Given the description of an element on the screen output the (x, y) to click on. 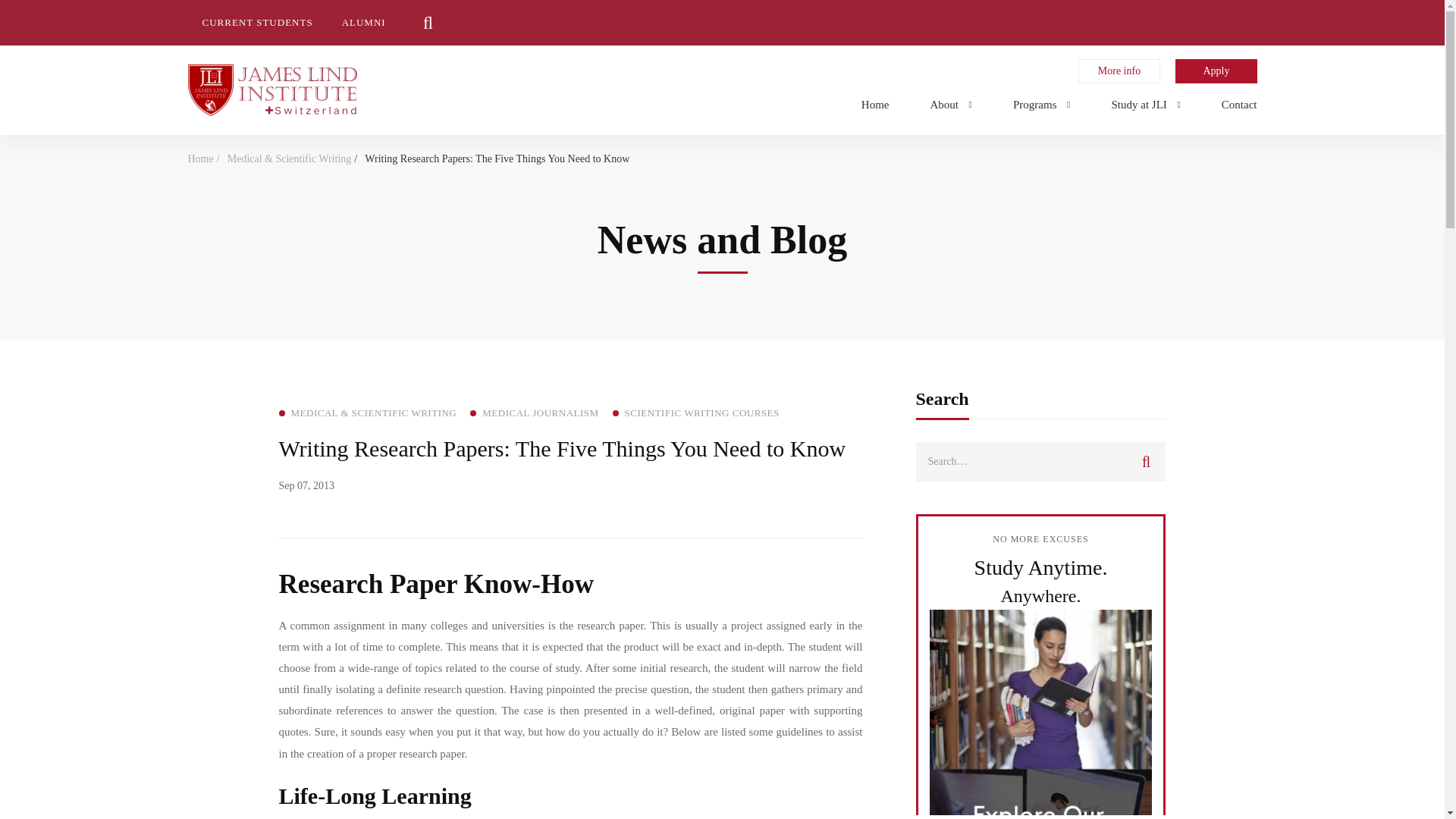
Home (875, 102)
About (951, 102)
Programs (1041, 102)
CURRENT STUDENTS (257, 22)
ALUMNI (363, 22)
Apply (1215, 70)
More info (1119, 70)
Search for: (1040, 461)
